Given the description of an element on the screen output the (x, y) to click on. 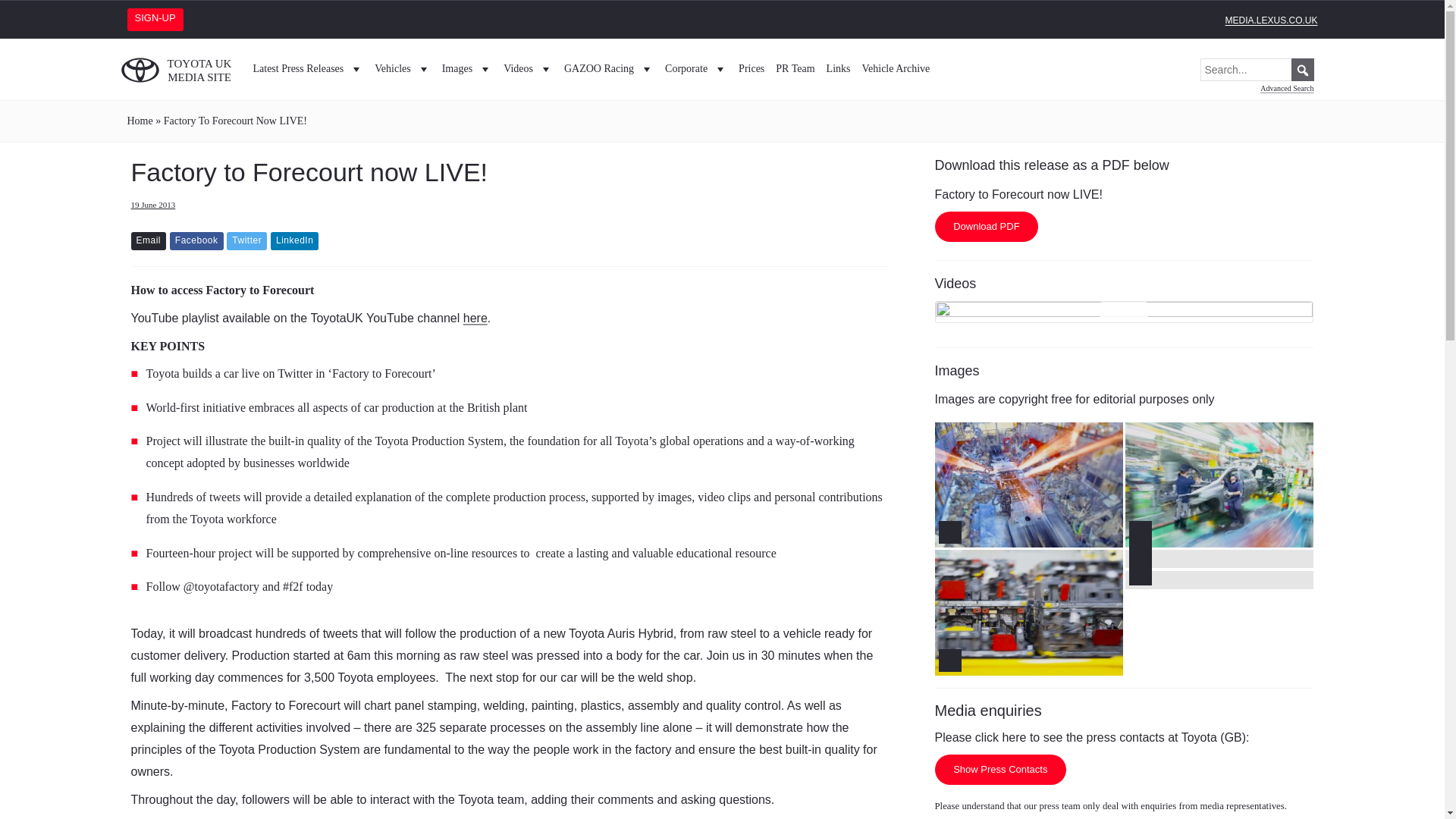
SIGN-UP (157, 18)
Download PDF (986, 226)
MEDIA.LEXUS.CO.UK (1270, 20)
Vehicles (402, 68)
Latest Press Releases (307, 68)
TOYOTA UK MEDIA SITE (180, 68)
